Given the description of an element on the screen output the (x, y) to click on. 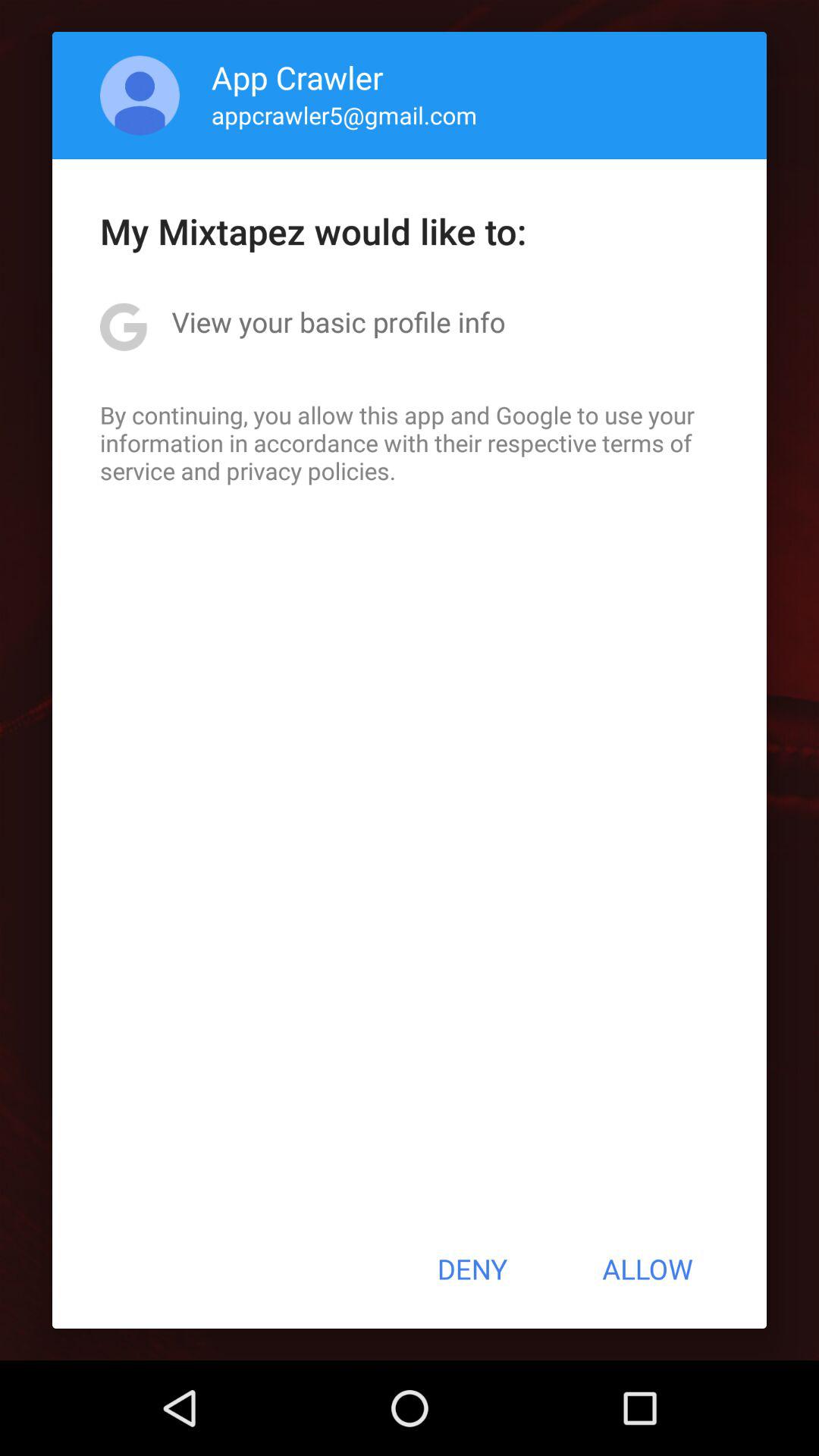
select the item above the my mixtapez would icon (344, 114)
